Given the description of an element on the screen output the (x, y) to click on. 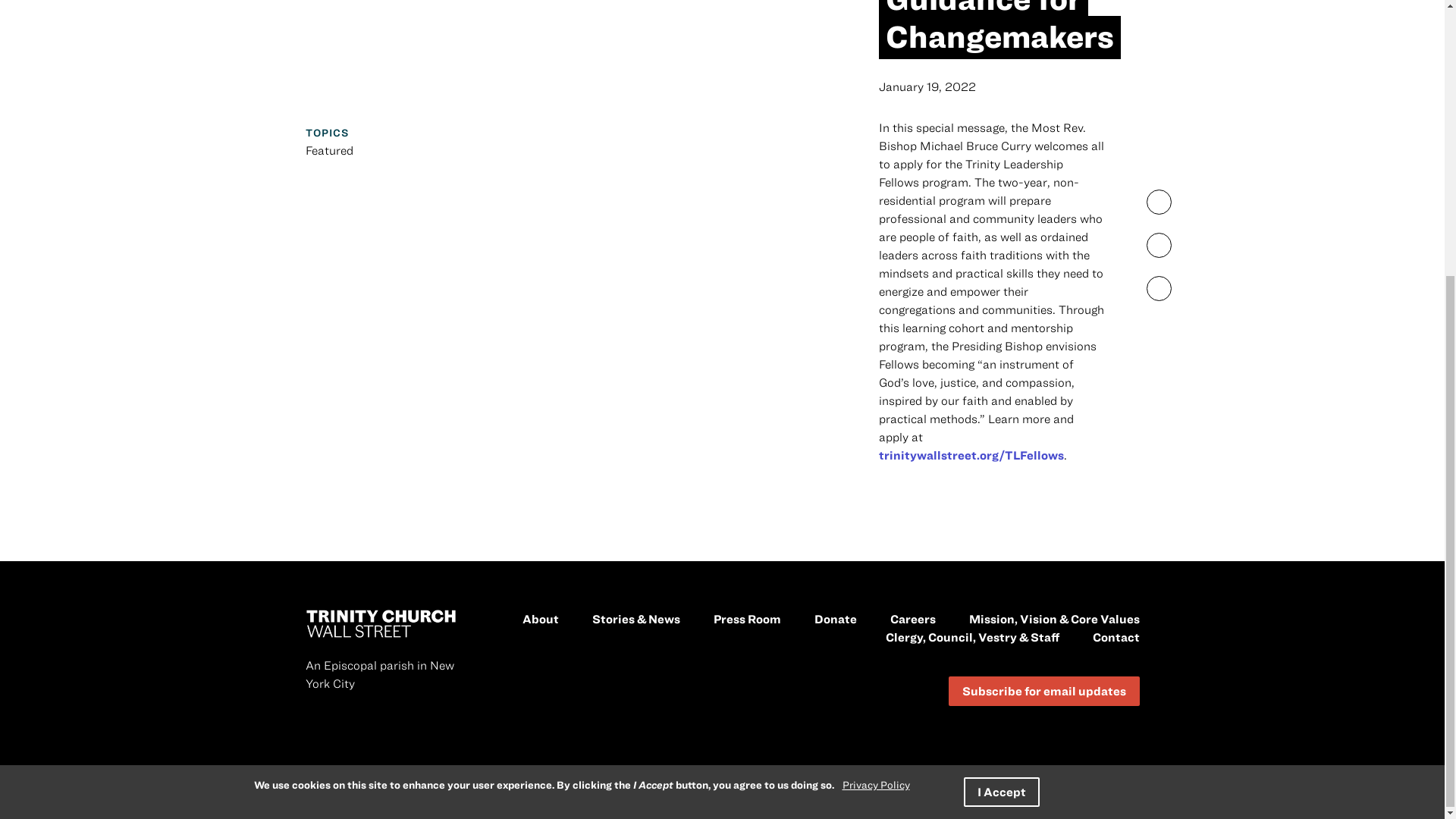
Subscribe for email updates (1042, 690)
About (539, 618)
Donate (835, 618)
Careers (912, 618)
Directory (972, 636)
Home (380, 623)
Terms of Use (879, 792)
Privacy Policy (807, 792)
Contact (1115, 636)
Donate (835, 618)
Press Room (746, 618)
The Kaltura Dynamic Video Player (569, 50)
Press Room (746, 618)
About (539, 618)
